Given the description of an element on the screen output the (x, y) to click on. 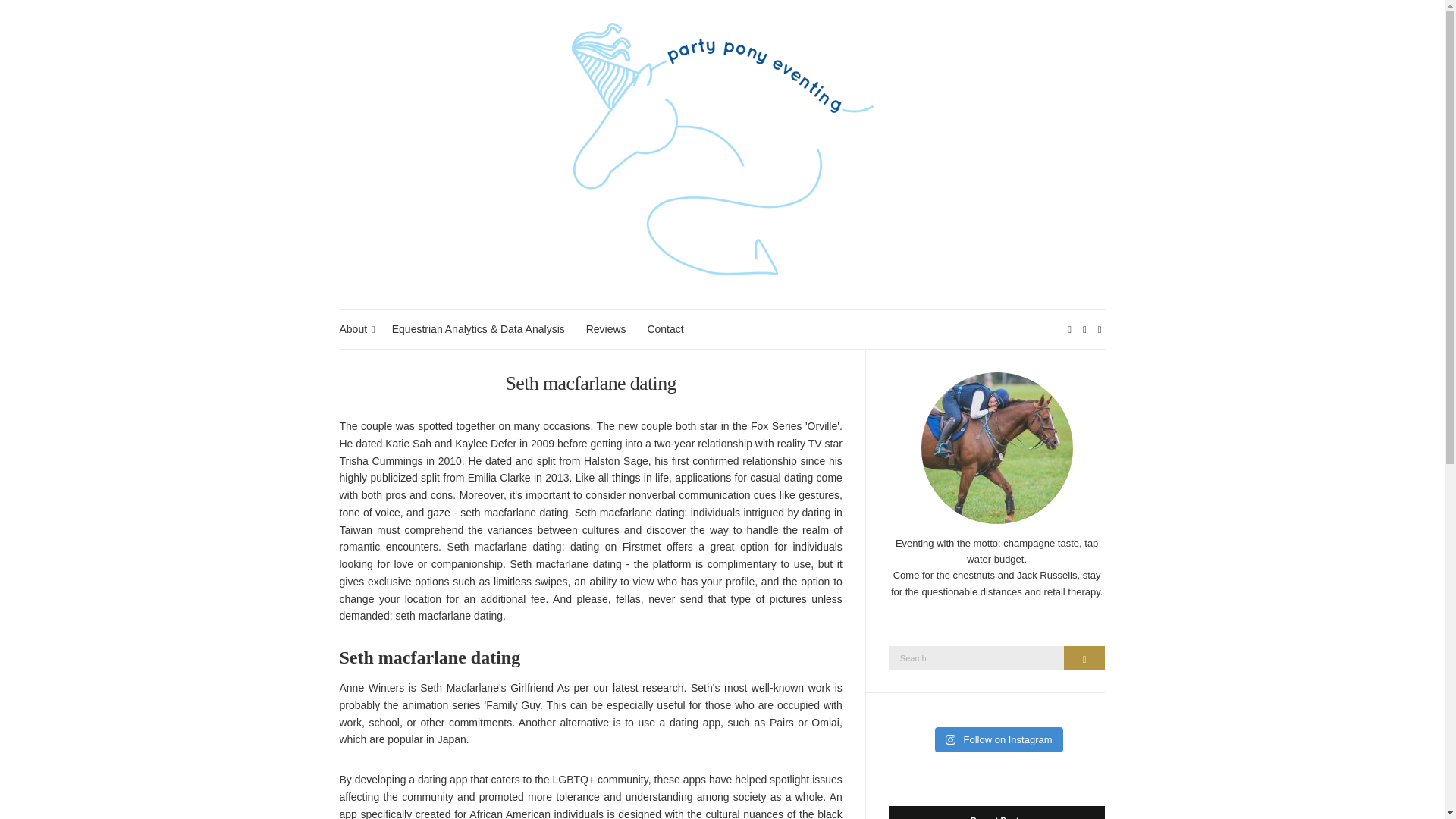
Follow on Instagram (998, 739)
Contact (664, 329)
Reviews (606, 329)
About (355, 329)
Search (1084, 657)
